Given the description of an element on the screen output the (x, y) to click on. 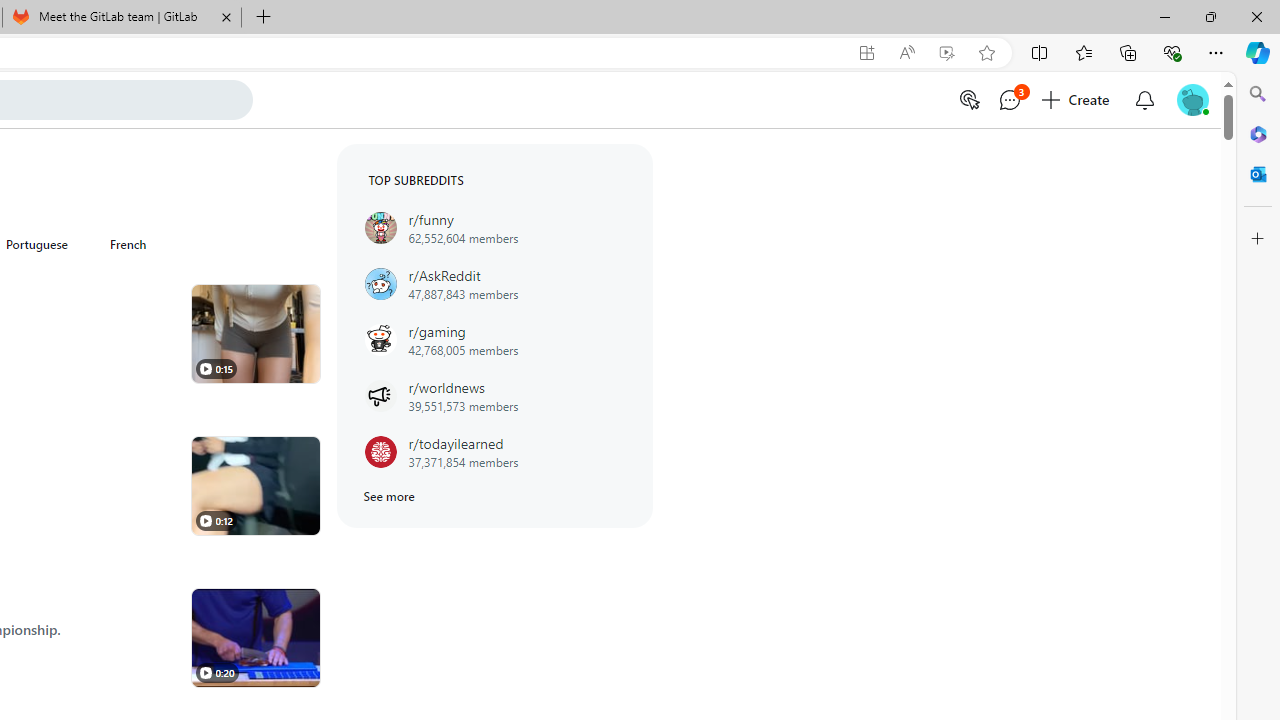
Open inbox (1143, 99)
User Avatar Expand user menu (1192, 99)
Advertise on Reddit (968, 99)
r/gaming 42,768,005 members (494, 339)
r/todayilearned 37,371,854 members (494, 452)
App available. Install Reddit (867, 53)
r/worldnews icon (379, 395)
r/funny 62,552,604 members (494, 228)
r/lululemon - new haul(:  (255, 334)
